Given the description of an element on the screen output the (x, y) to click on. 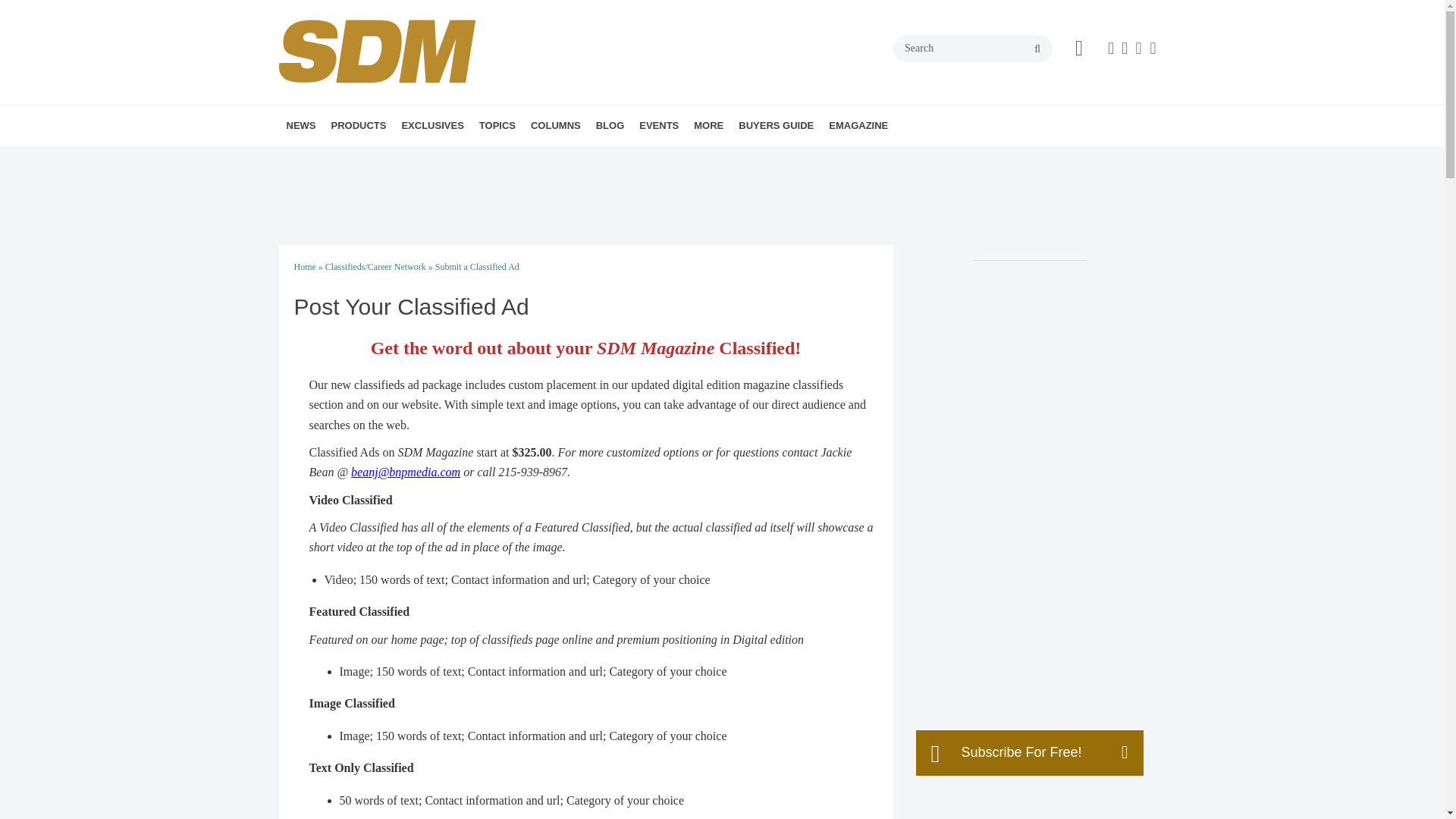
PROJECT OF THE YEAR (524, 158)
MORE SDM TOPICS (592, 158)
DEALER OF THE YEAR (515, 158)
TOPICS (496, 125)
ANNUAL INDUSTRY FORECAST (504, 158)
PRODUCTS (358, 125)
DIGITAL SHUFFLE (617, 158)
Search (972, 48)
SDM 100 (488, 158)
search (1037, 49)
